Given the description of an element on the screen output the (x, y) to click on. 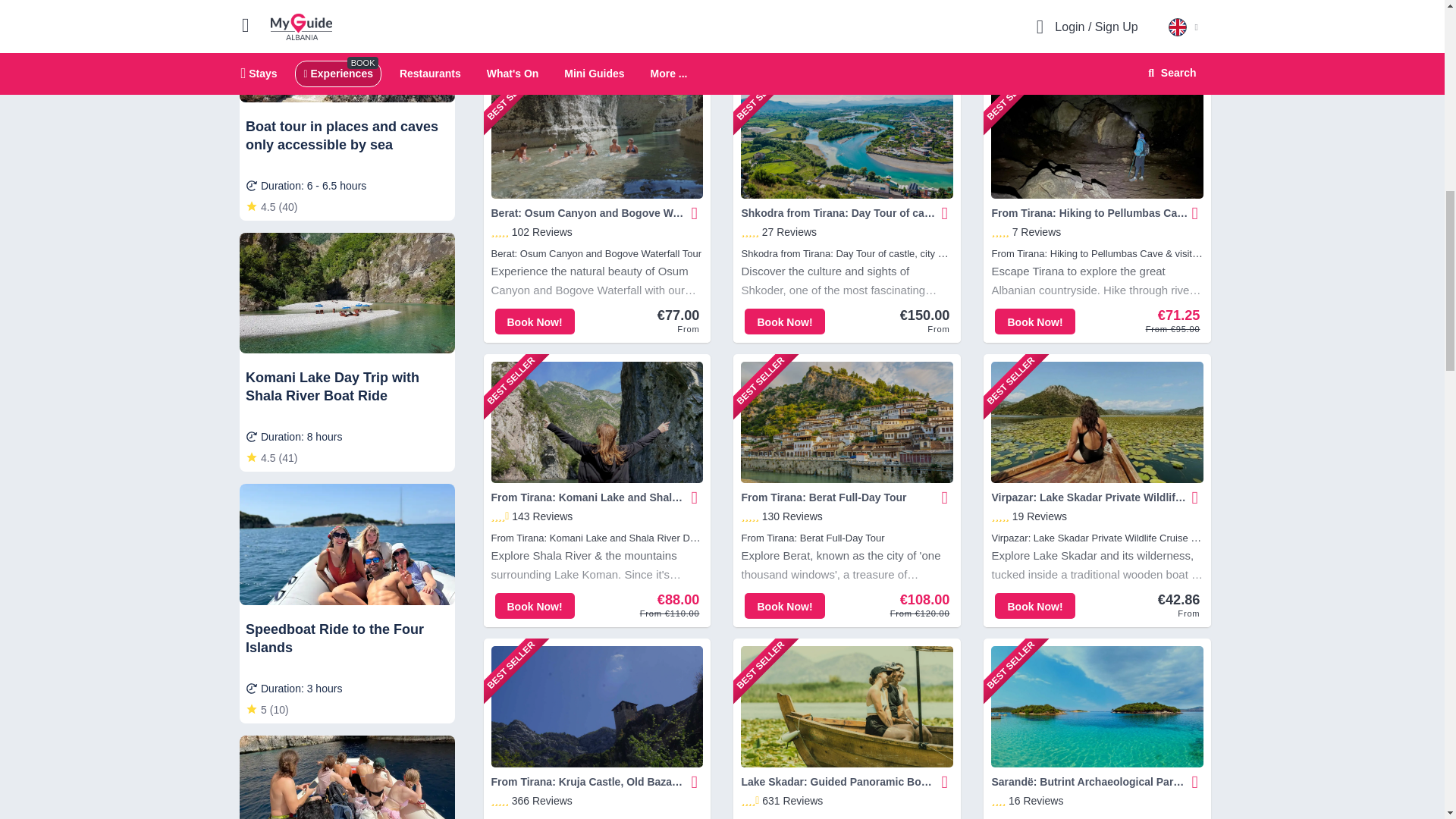
Add to My Guide (694, 213)
Add to My Guide (944, 213)
